Given the description of an element on the screen output the (x, y) to click on. 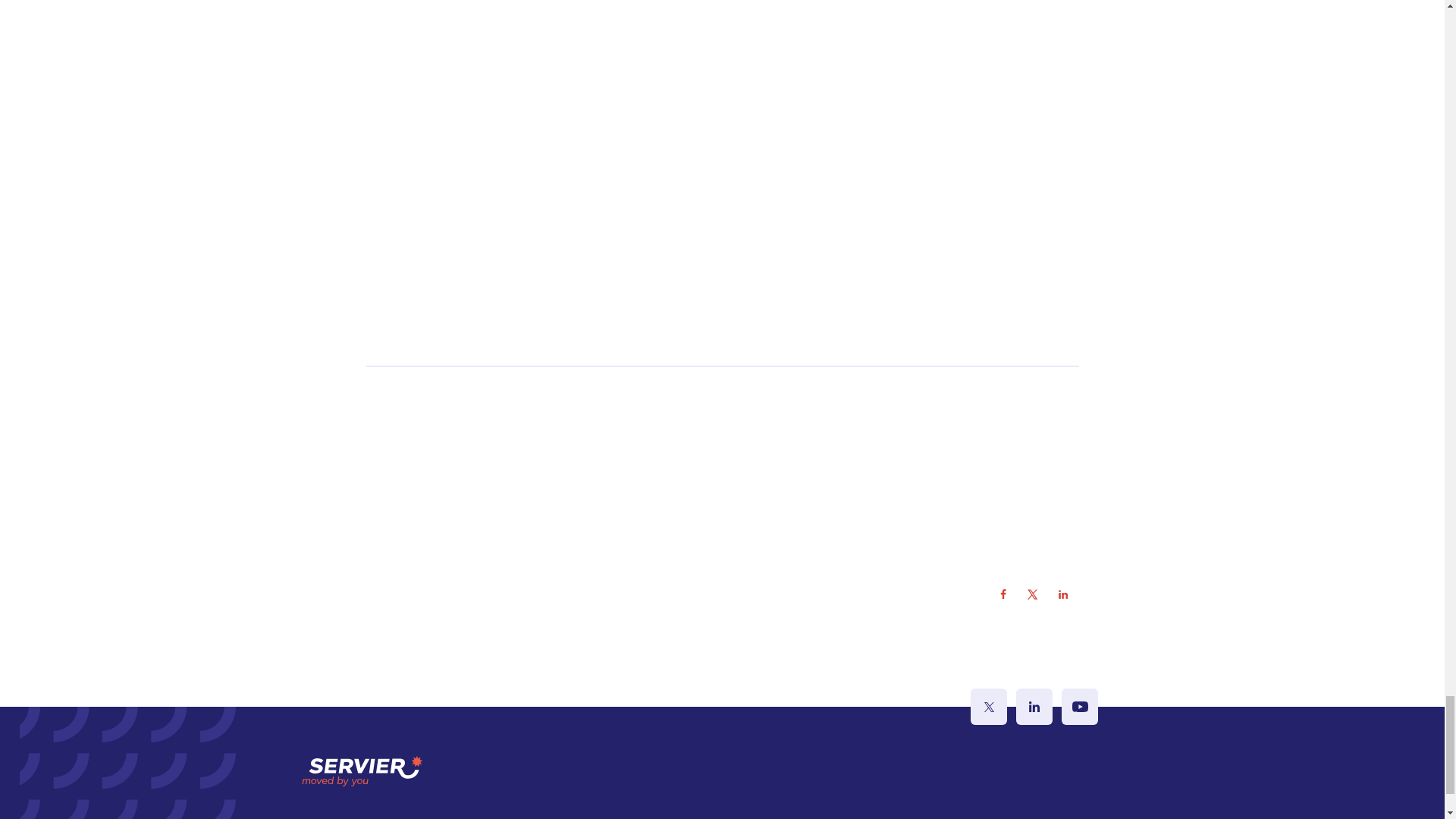
Share on LinkedIn (1063, 594)
Share on Facebook (1002, 594)
Share on X (1032, 594)
